Given the description of an element on the screen output the (x, y) to click on. 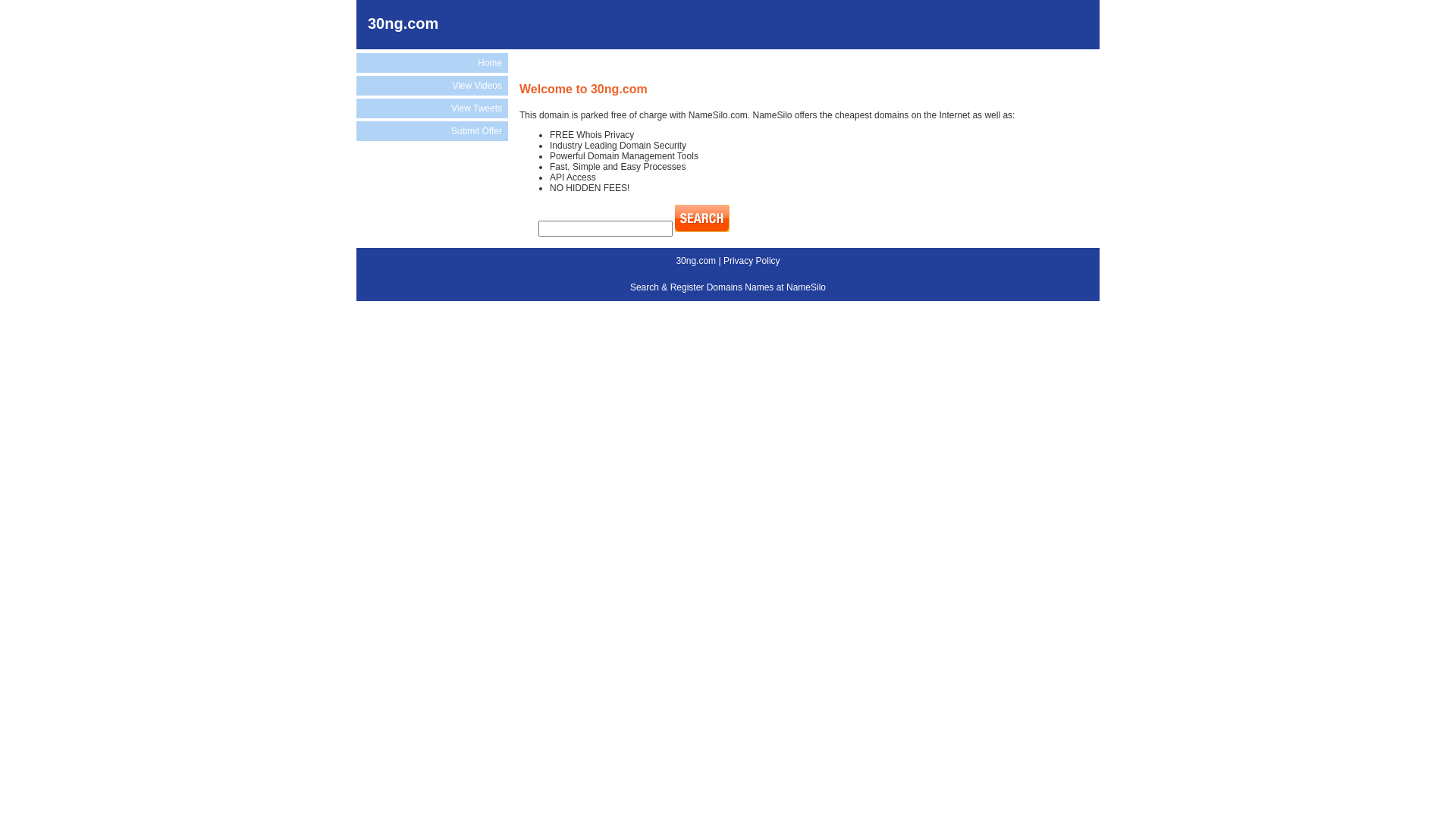
Submit Offer Element type: text (432, 131)
View Tweets Element type: text (432, 108)
Home Element type: text (432, 62)
View Videos Element type: text (432, 85)
Privacy Policy Element type: text (751, 260)
Search & Register Domains Names at NameSilo Element type: text (727, 287)
